Given the description of an element on the screen output the (x, y) to click on. 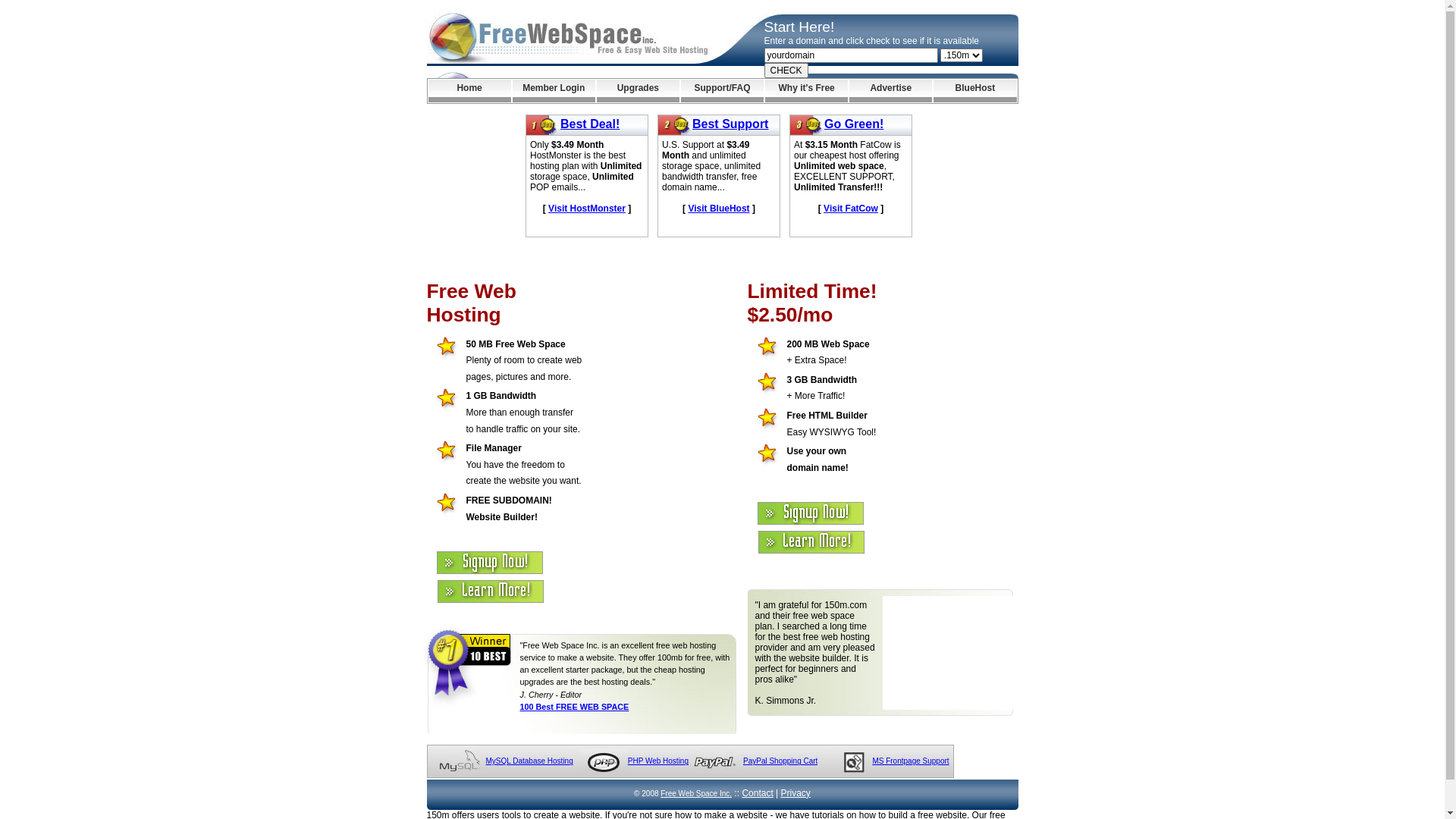
Home Element type: text (468, 90)
PayPal Shopping Cart Element type: text (780, 760)
100 Best FREE WEB SPACE Element type: text (574, 706)
MS Frontpage Support Element type: text (910, 760)
Free Web Space Inc. Element type: text (695, 793)
PHP Web Hosting Element type: text (657, 760)
Advertise Element type: text (890, 90)
Upgrades Element type: text (637, 90)
CHECK Element type: text (786, 70)
Contact Element type: text (756, 792)
Privacy Element type: text (795, 792)
Why it's Free Element type: text (806, 90)
BlueHost Element type: text (974, 90)
MySQL Database Hosting Element type: text (528, 760)
Member Login Element type: text (553, 90)
Support/FAQ Element type: text (721, 90)
